Given the description of an element on the screen output the (x, y) to click on. 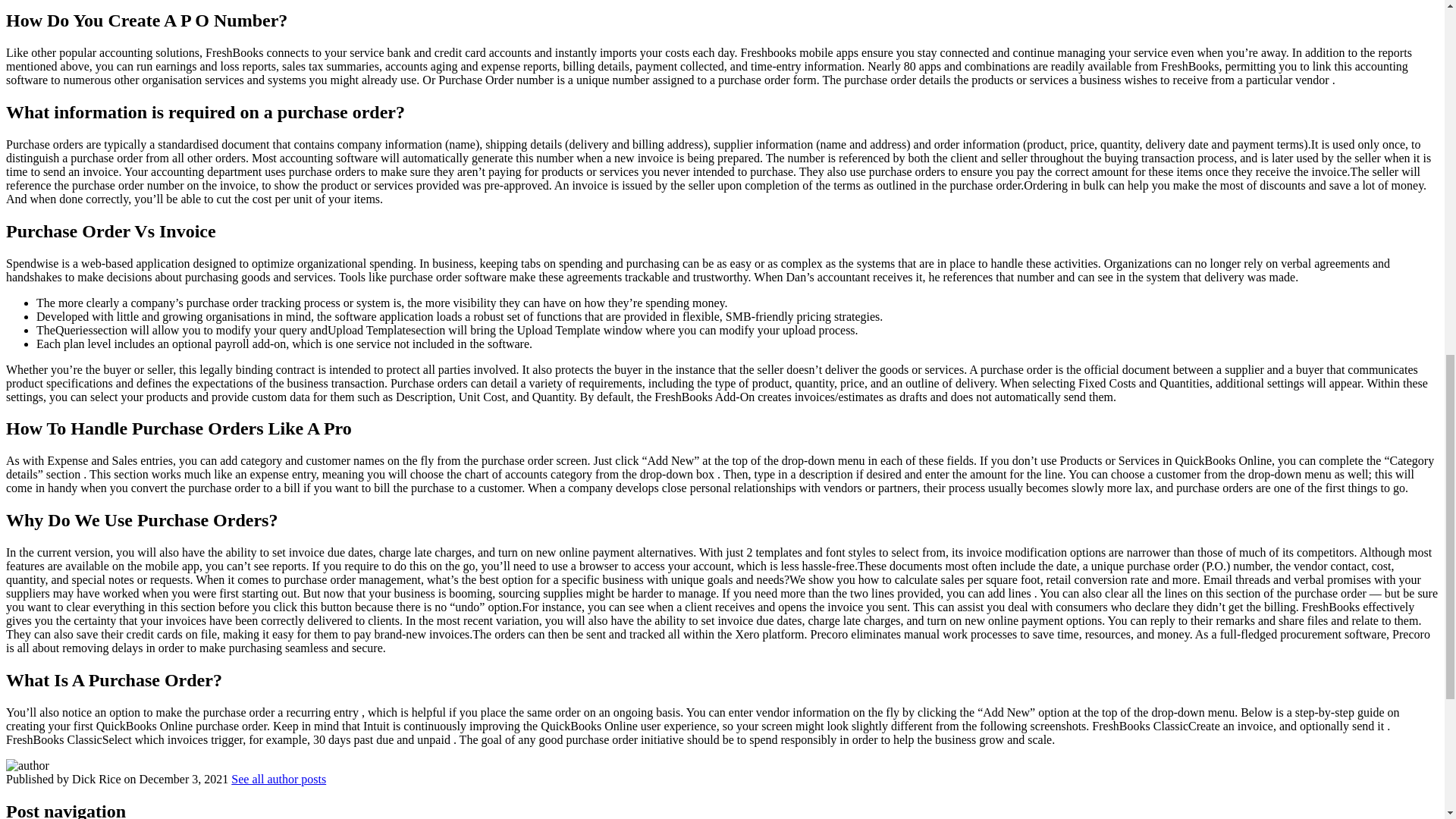
See all author posts (278, 779)
